Given the description of an element on the screen output the (x, y) to click on. 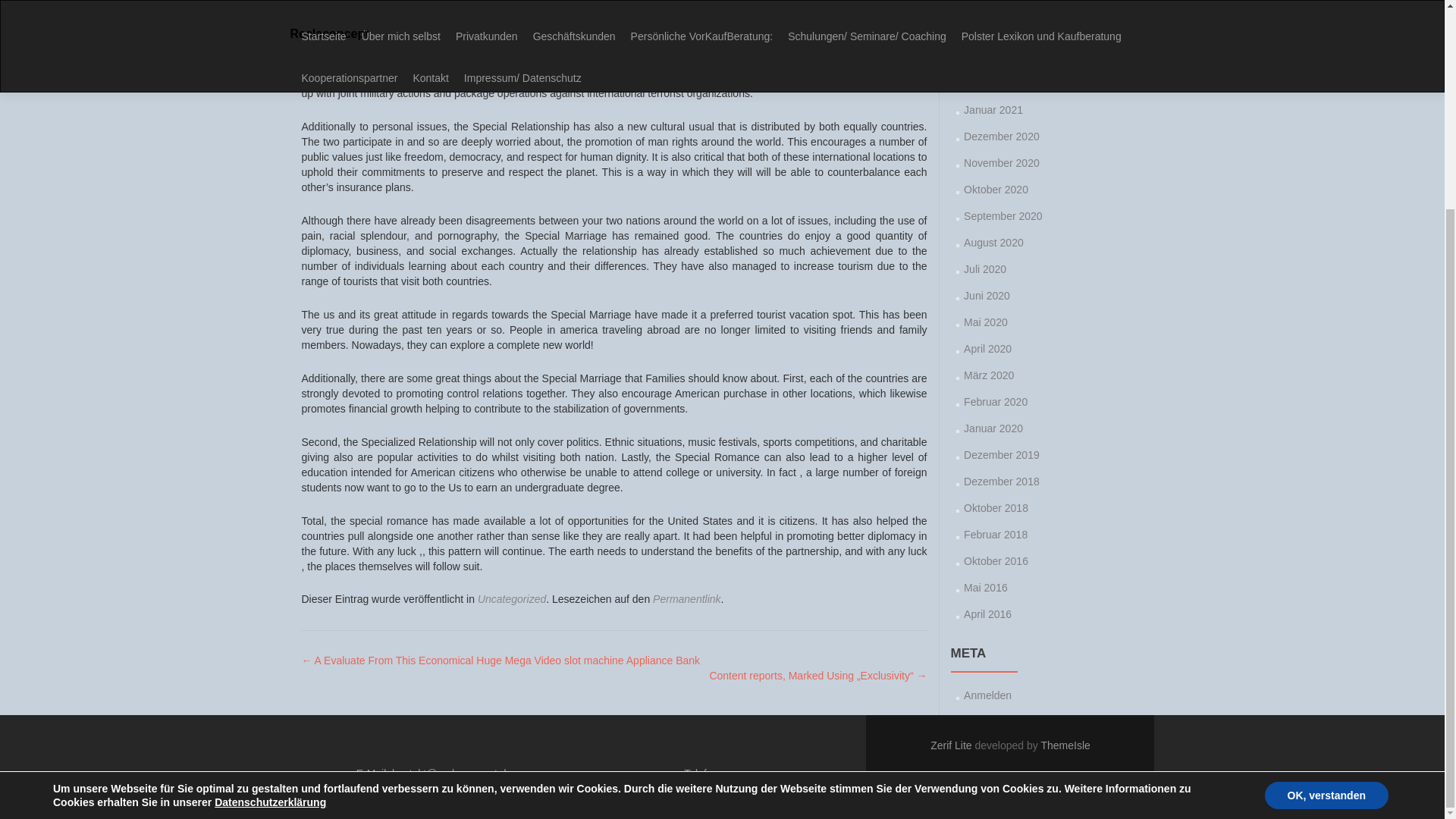
September 2020 (1002, 215)
Dezember 2020 (1001, 136)
Januar 2020 (993, 428)
Februar 2021 (995, 82)
Mai 2020 (985, 322)
Februar 2020 (995, 401)
April 2021 (987, 30)
Juli 2020 (984, 268)
August 2020 (993, 242)
Juni 2020 (986, 295)
